Given the description of an element on the screen output the (x, y) to click on. 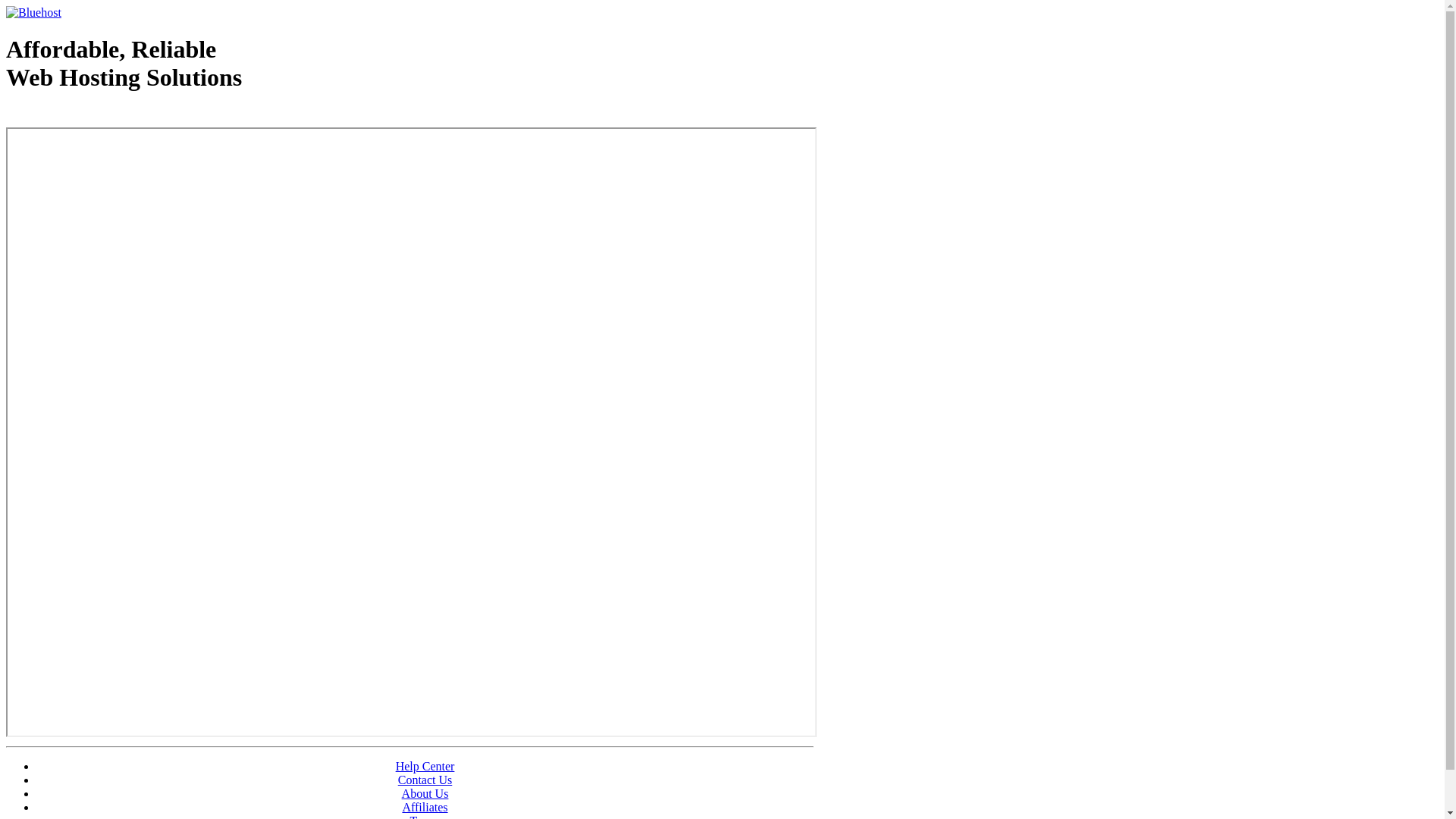
Affiliates Element type: text (424, 806)
Contact Us Element type: text (425, 779)
About Us Element type: text (424, 793)
Web Hosting - courtesy of www.bluehost.com Element type: text (94, 115)
Help Center Element type: text (425, 765)
